Given the description of an element on the screen output the (x, y) to click on. 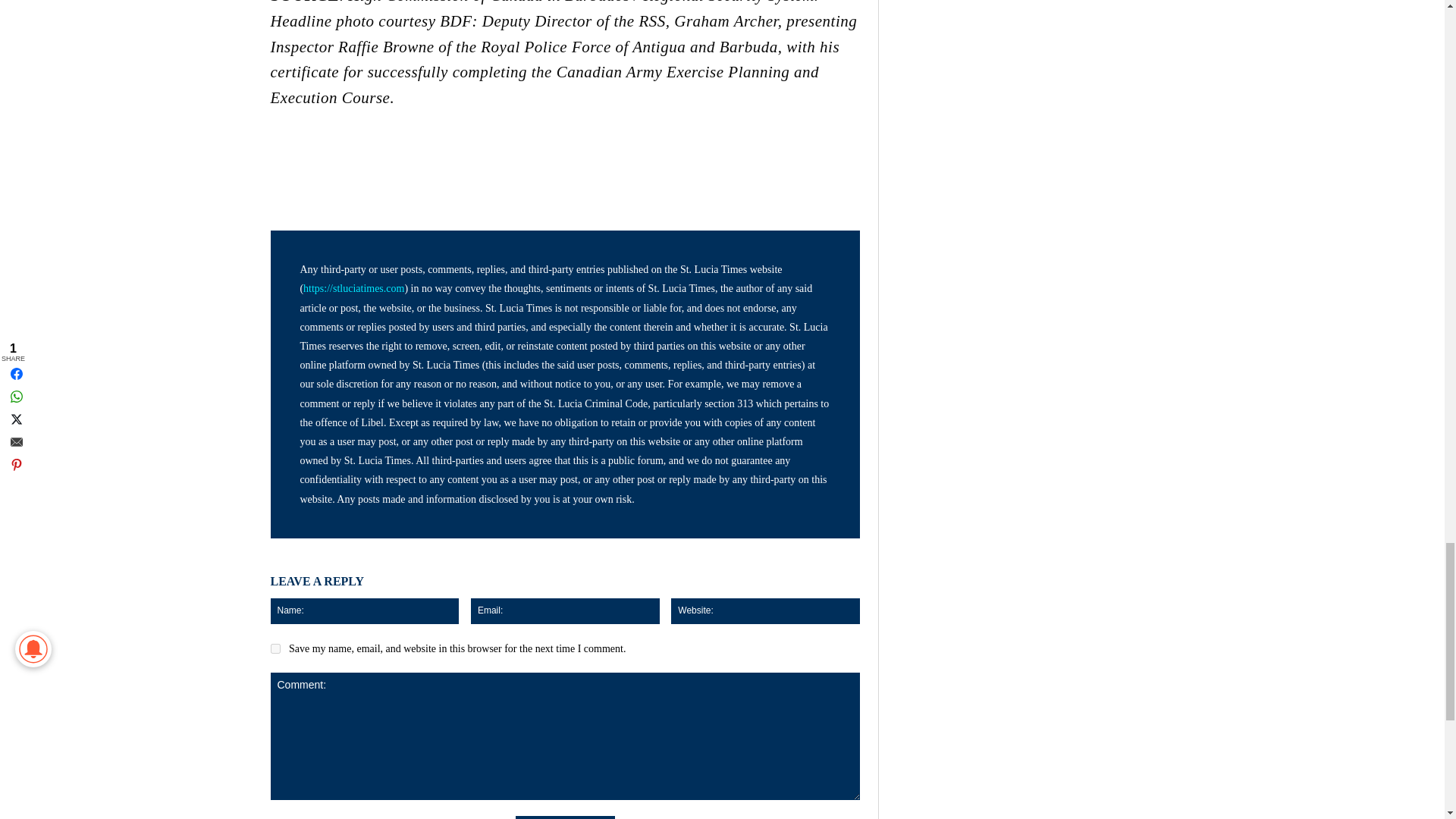
yes (274, 648)
Post Comment (564, 817)
